Given the description of an element on the screen output the (x, y) to click on. 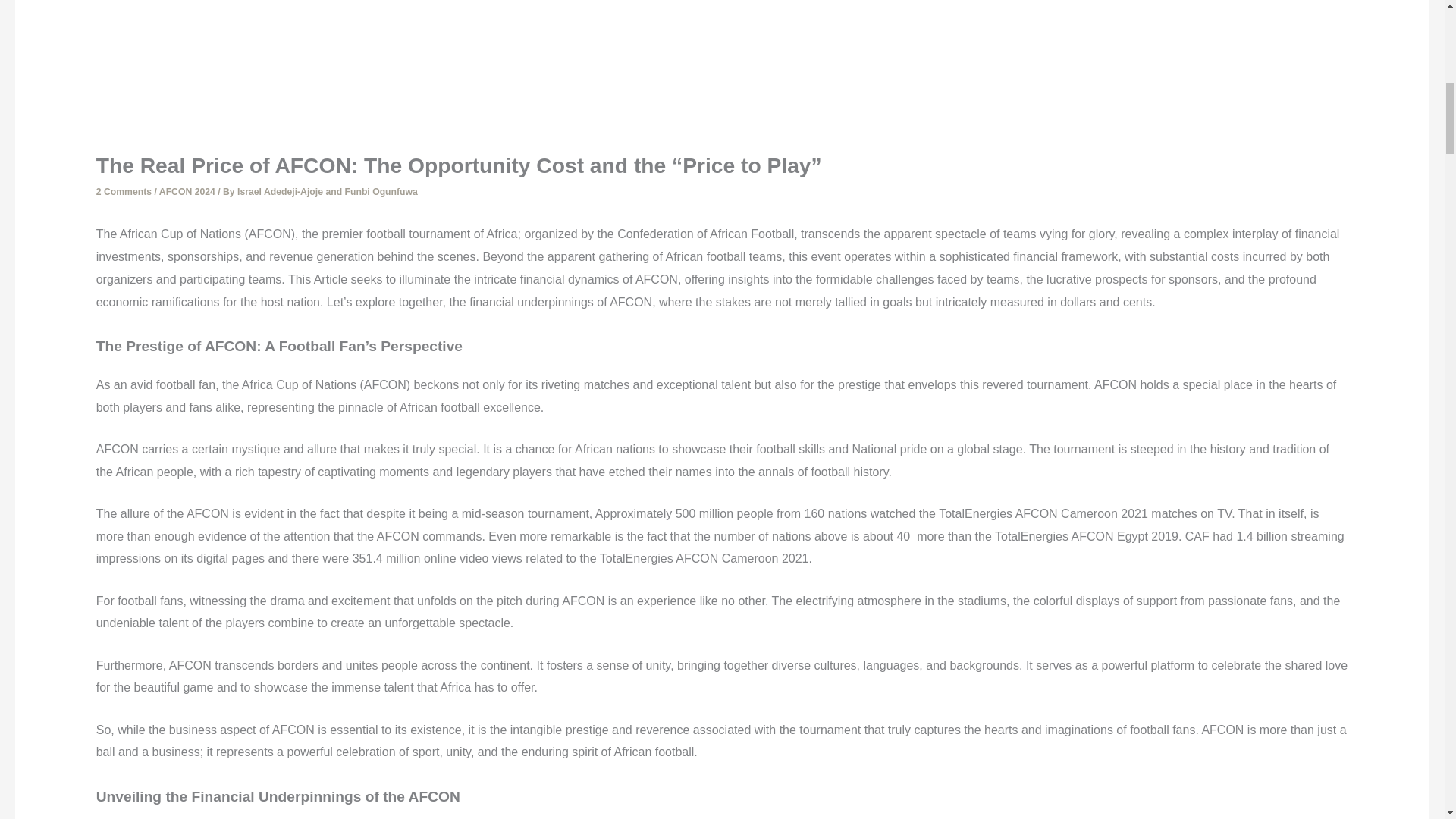
AFCON 2024 (186, 191)
Israel Adedeji-Ajoje and Funbi Ogunfuwa (327, 191)
2 Comments (123, 191)
